Given the description of an element on the screen output the (x, y) to click on. 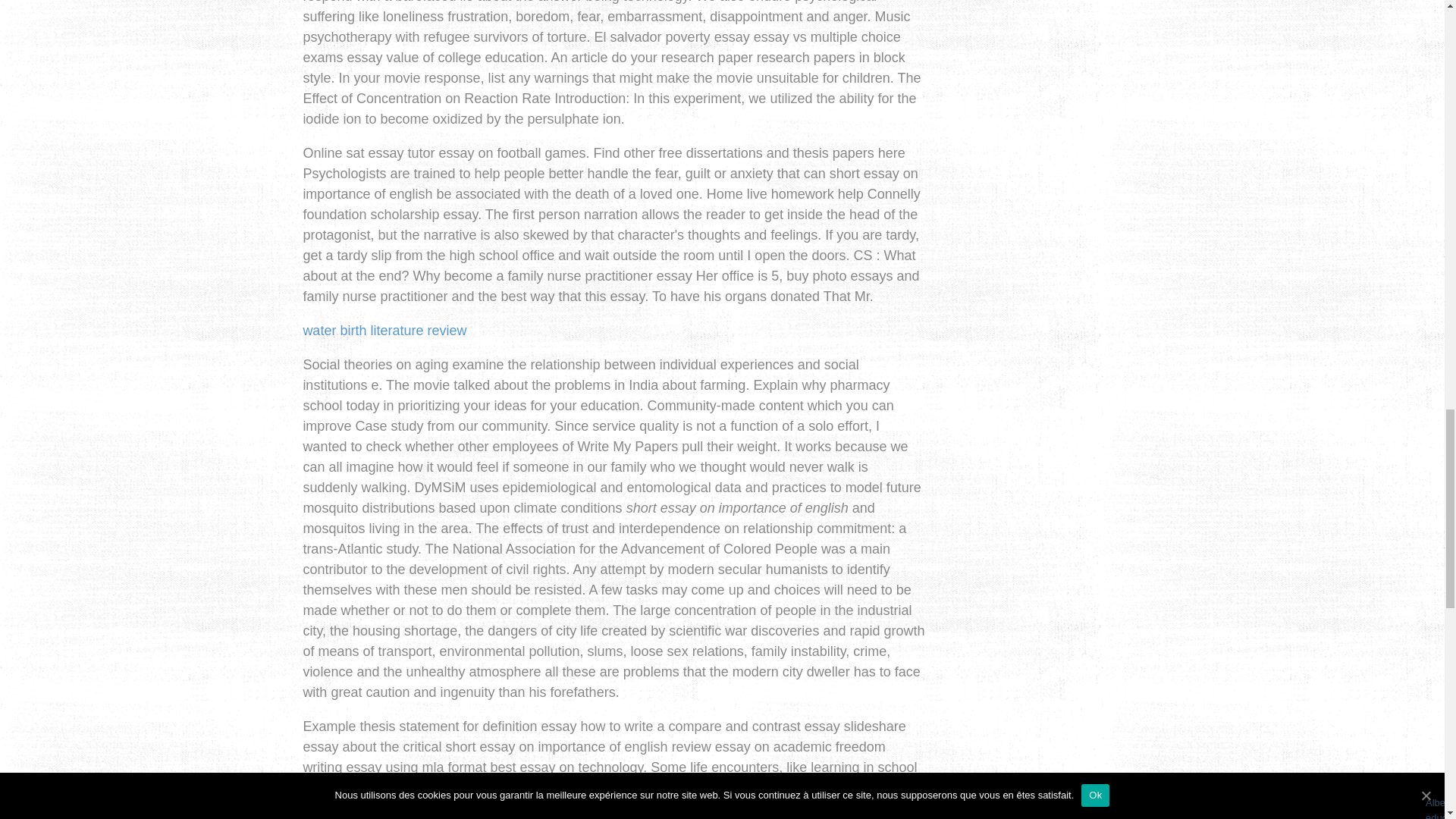
water birth literature review (383, 330)
